Given the description of an element on the screen output the (x, y) to click on. 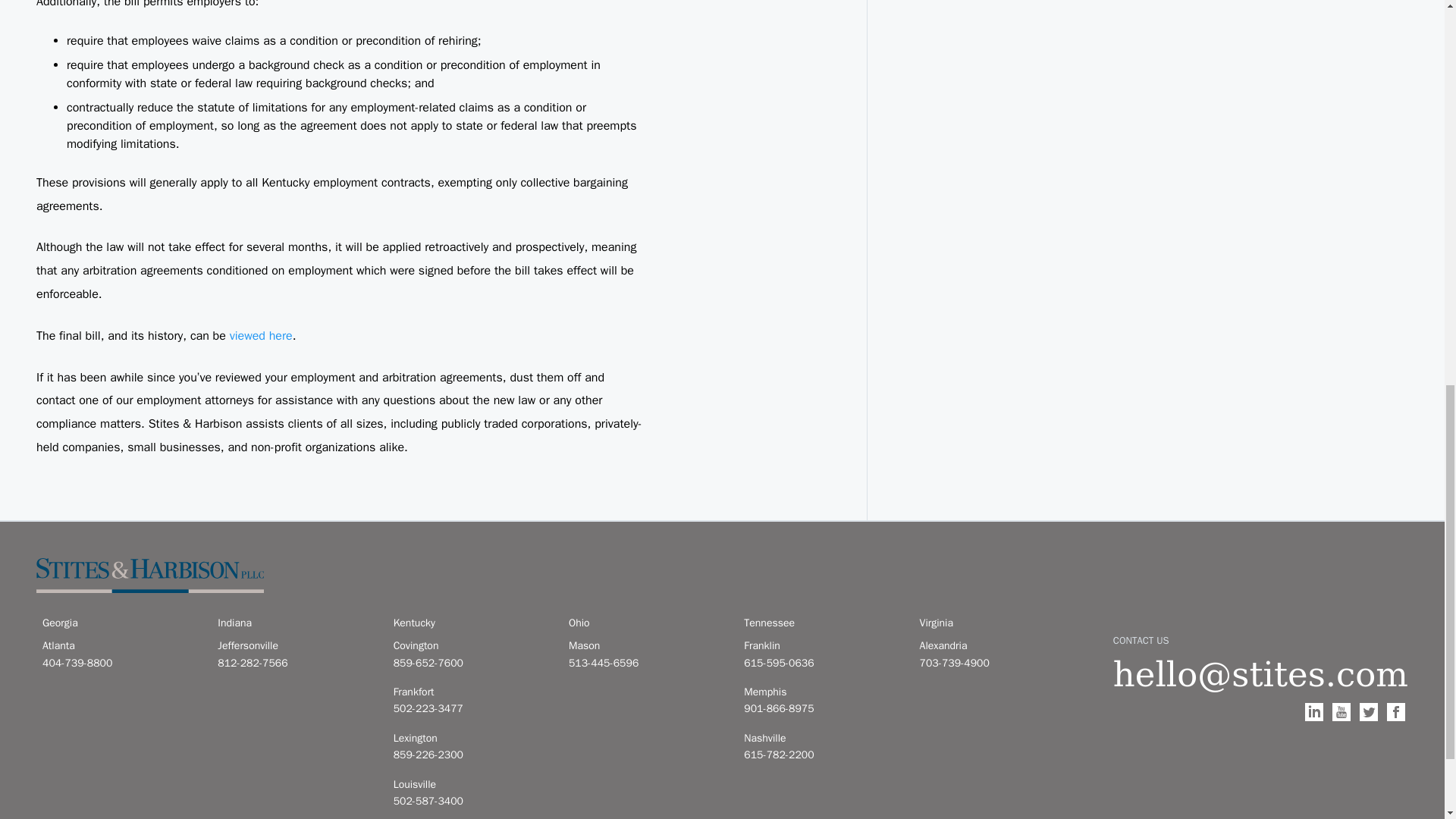
615-595-0636 (822, 663)
Jeffersonville (295, 646)
859-652-7600 (471, 663)
Alexandria (998, 646)
615-782-2200 (822, 754)
Lexington (471, 738)
Memphis (822, 692)
Louisville (471, 784)
859-226-2300 (471, 754)
Frankfort (471, 692)
812-282-7566 (295, 663)
Franklin (822, 646)
viewed here (261, 335)
901-866-8975 (822, 709)
502-223-3477 (471, 709)
